Given the description of an element on the screen output the (x, y) to click on. 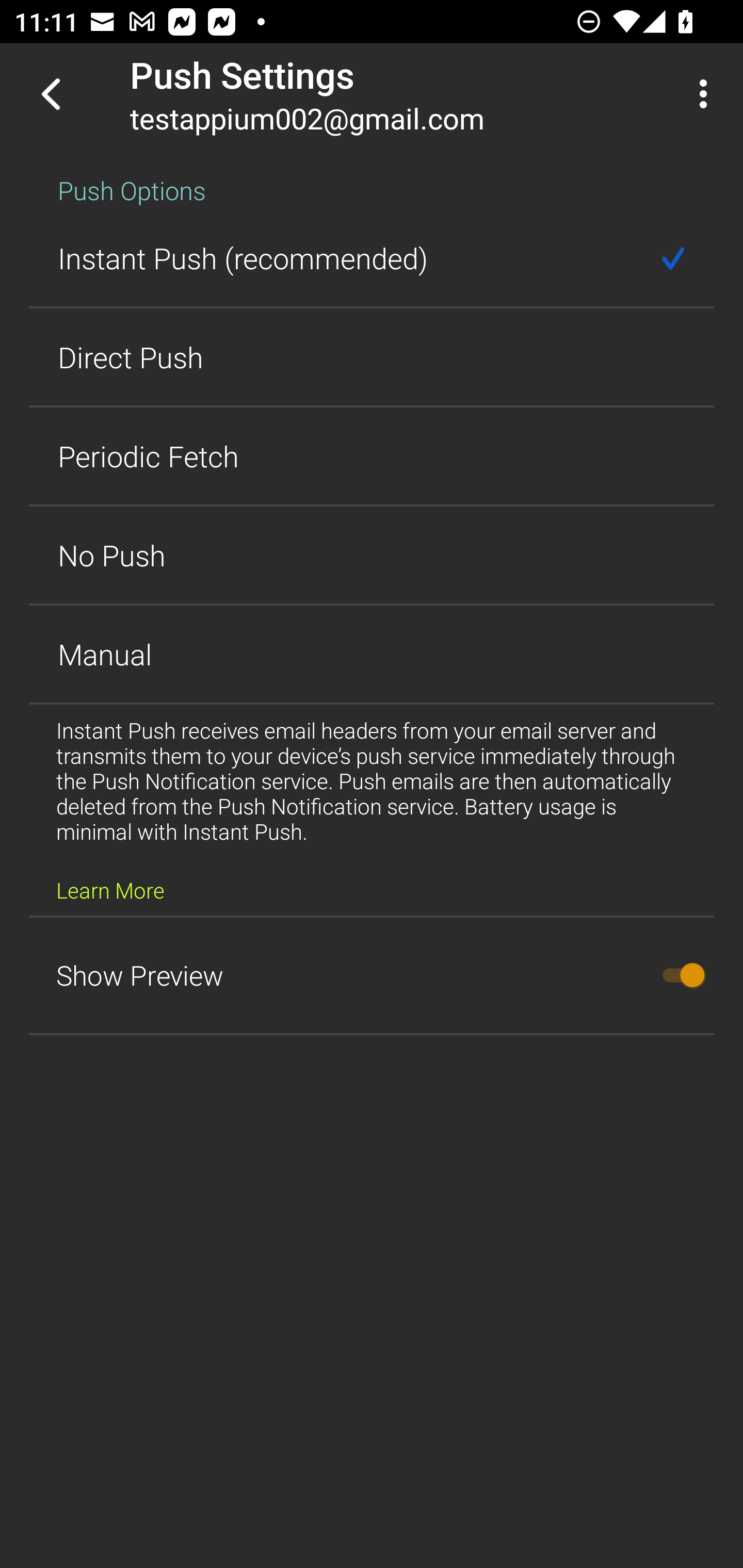
Navigate up (50, 93)
More options (706, 93)
Instant Push (recommended) (371, 257)
Direct Push (371, 357)
Periodic Fetch (371, 455)
No Push (371, 554)
Manual (371, 653)
Learn More (110, 889)
Show Preview (371, 975)
